Given the description of an element on the screen output the (x, y) to click on. 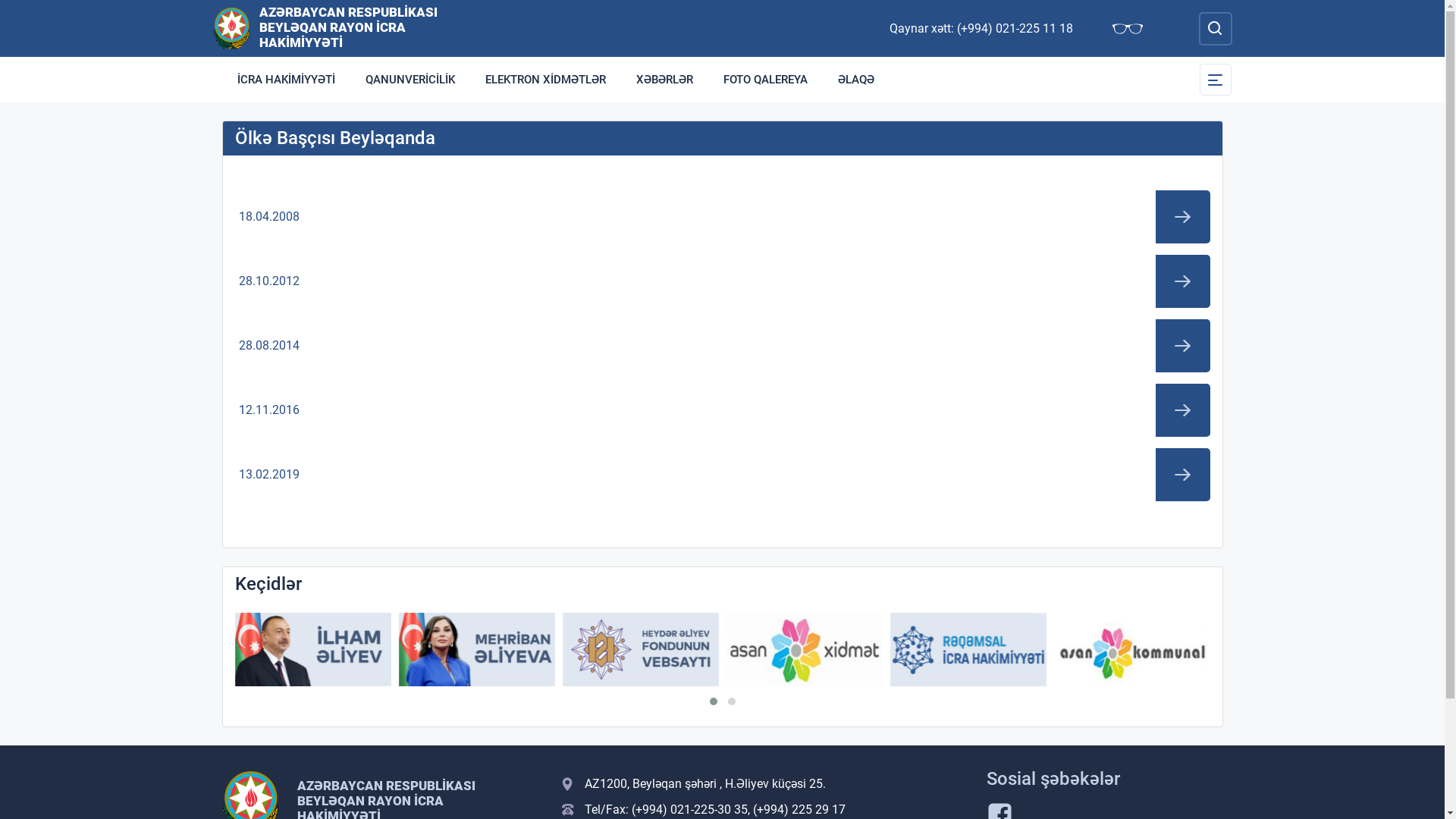
18.04.2008 Element type: text (722, 216)
13.02.2019 Element type: text (722, 474)
28.08.2014 Element type: text (722, 345)
Asan komunal Element type: hover (1132, 649)
FOTO QALEREYA Element type: text (765, 79)
12.11.2016 Element type: text (722, 409)
28.10.2012 Element type: text (722, 280)
QANUNVERICILIK Element type: text (410, 79)
